Given the description of an element on the screen output the (x, y) to click on. 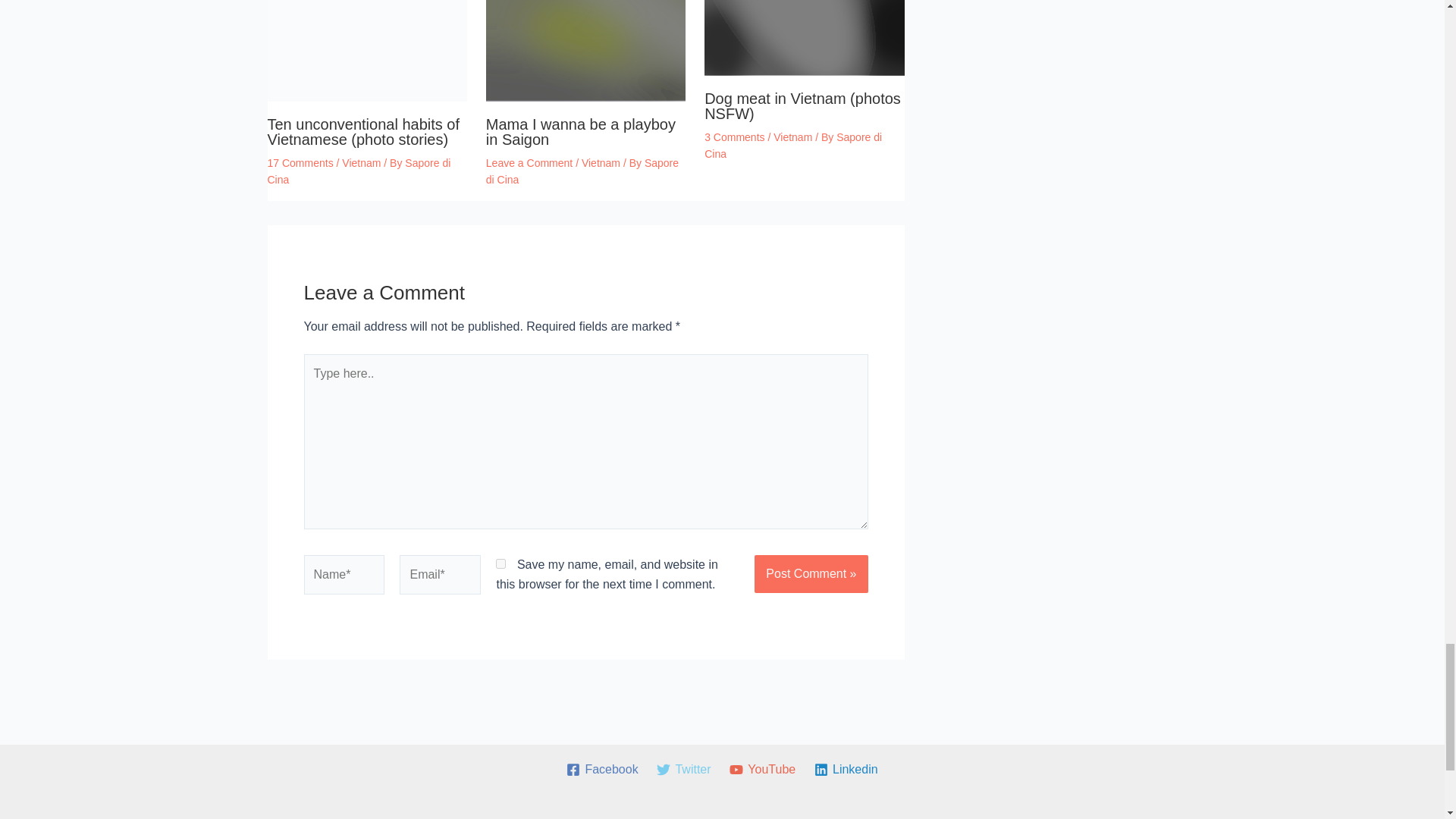
yes (500, 563)
View all posts by Sapore di Cina (793, 145)
View all posts by Sapore di Cina (357, 171)
View all posts by Sapore di Cina (582, 171)
